Given the description of an element on the screen output the (x, y) to click on. 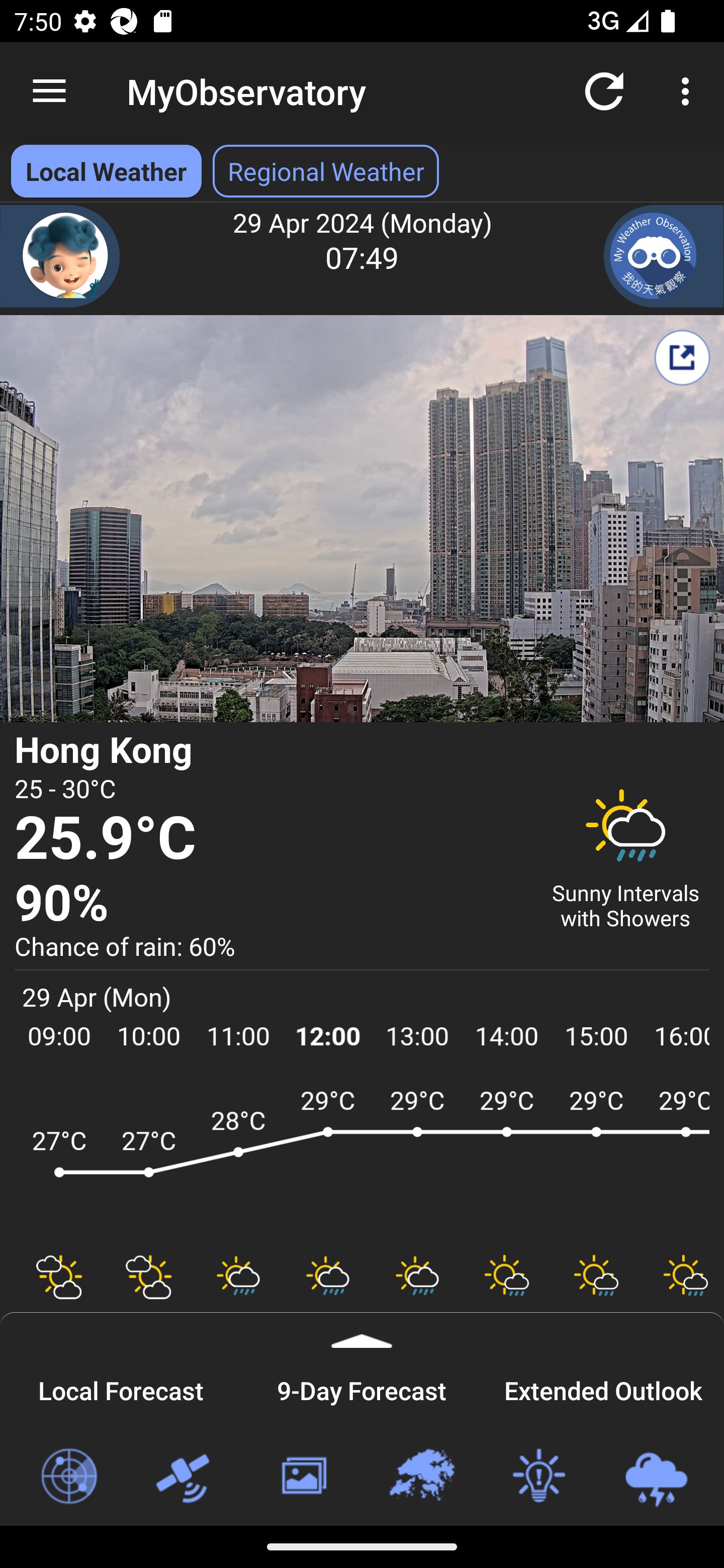
Navigate up (49, 91)
Refresh (604, 90)
More options (688, 90)
Local Weather Local Weather selected (105, 170)
Regional Weather Select Regional Weather (325, 170)
Chatbot (60, 256)
My Weather Observation (663, 256)
Share My Weather Report (681, 357)
25.9°C Temperature
25.9 degree Celsius (270, 839)
90% Relative Humidity
90 percent (270, 903)
ARWF (361, 1160)
Expand (362, 1330)
Local Forecast (120, 1387)
Extended Outlook (603, 1387)
Radar Images (68, 1476)
Satellite Images (185, 1476)
Weather Photos (302, 1476)
Regional Weather (420, 1476)
Weather Tips (537, 1476)
Loc-based Rain & Lightning Forecast (655, 1476)
